Given the description of an element on the screen output the (x, y) to click on. 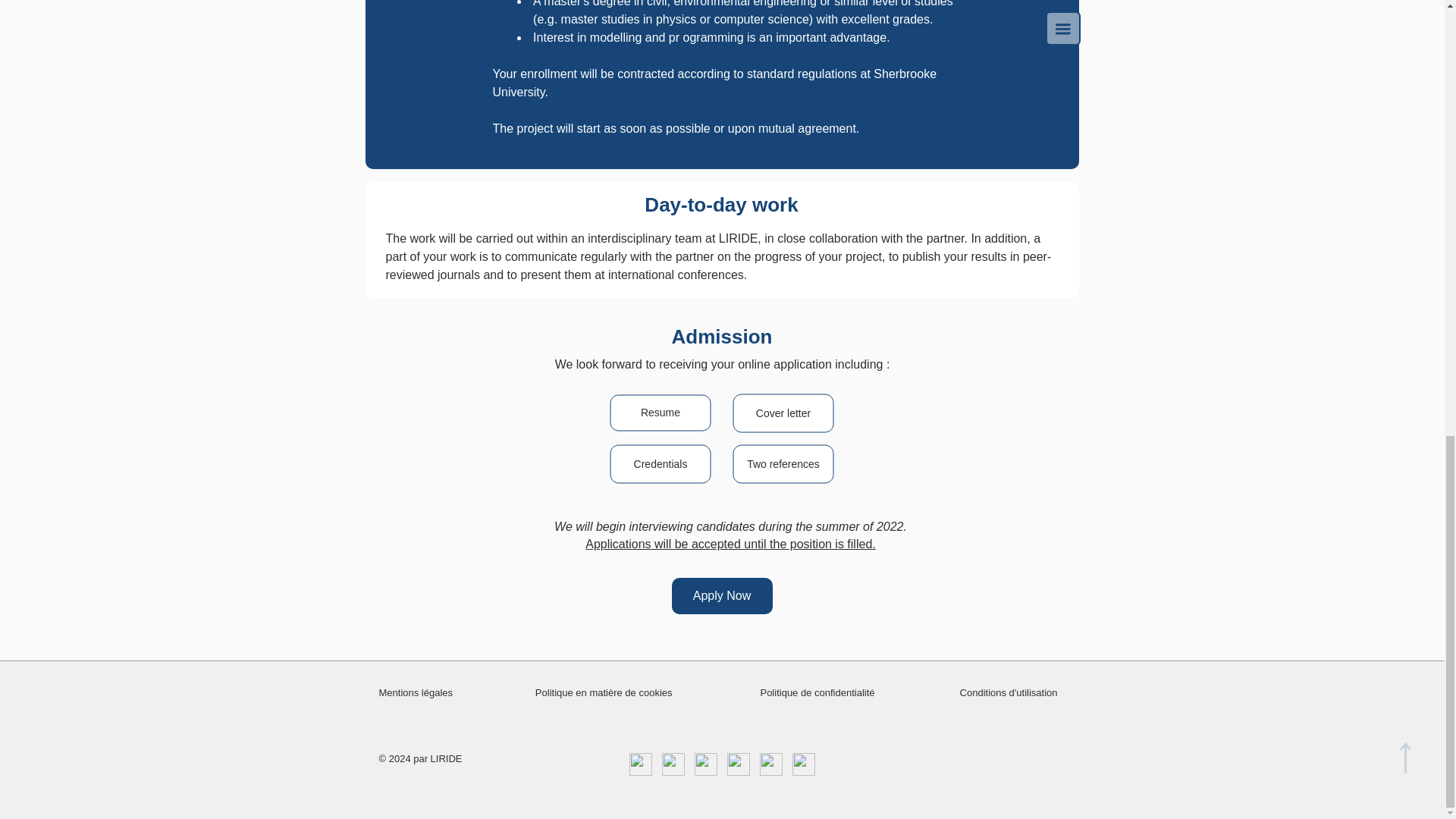
Apply Now (722, 596)
